Given the description of an element on the screen output the (x, y) to click on. 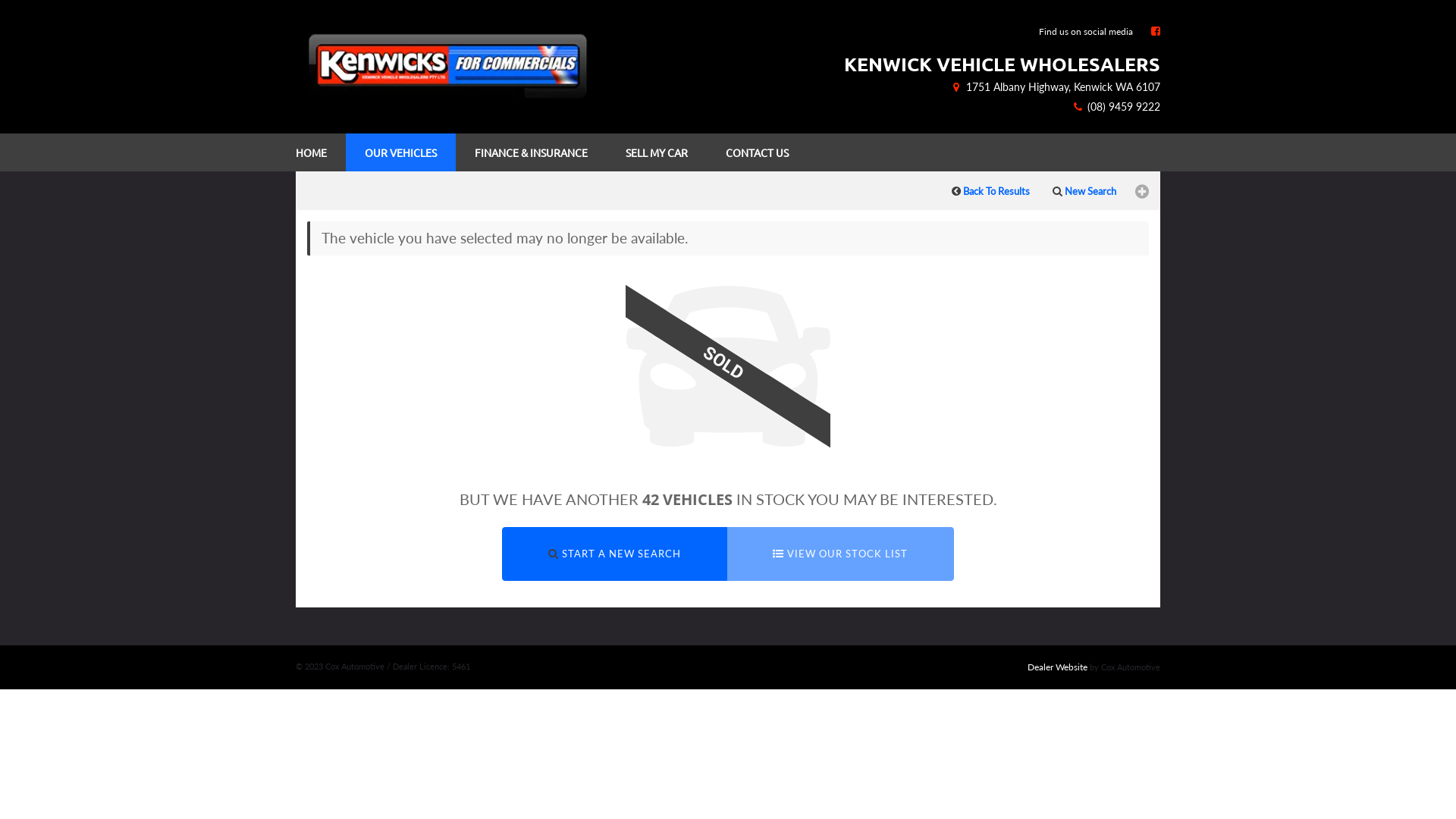
HOME Element type: text (312, 152)
FINANCE & INSURANCE Element type: text (530, 152)
VIEW OUR STOCK LIST Element type: text (839, 553)
1751 Albany Highway, Kenwick WA 6107 Element type: text (1054, 86)
Facebook Element type: hover (1155, 30)
OUR VEHICLES Element type: text (400, 152)
Dealer Website Element type: text (1057, 666)
Back To Results Element type: text (990, 190)
CONTACT US Element type: text (756, 152)
START A NEW SEARCH Element type: text (614, 553)
New Search Element type: text (1084, 190)
SELL MY CAR Element type: text (656, 152)
(08) 9459 9222 Element type: text (1115, 106)
